Given the description of an element on the screen output the (x, y) to click on. 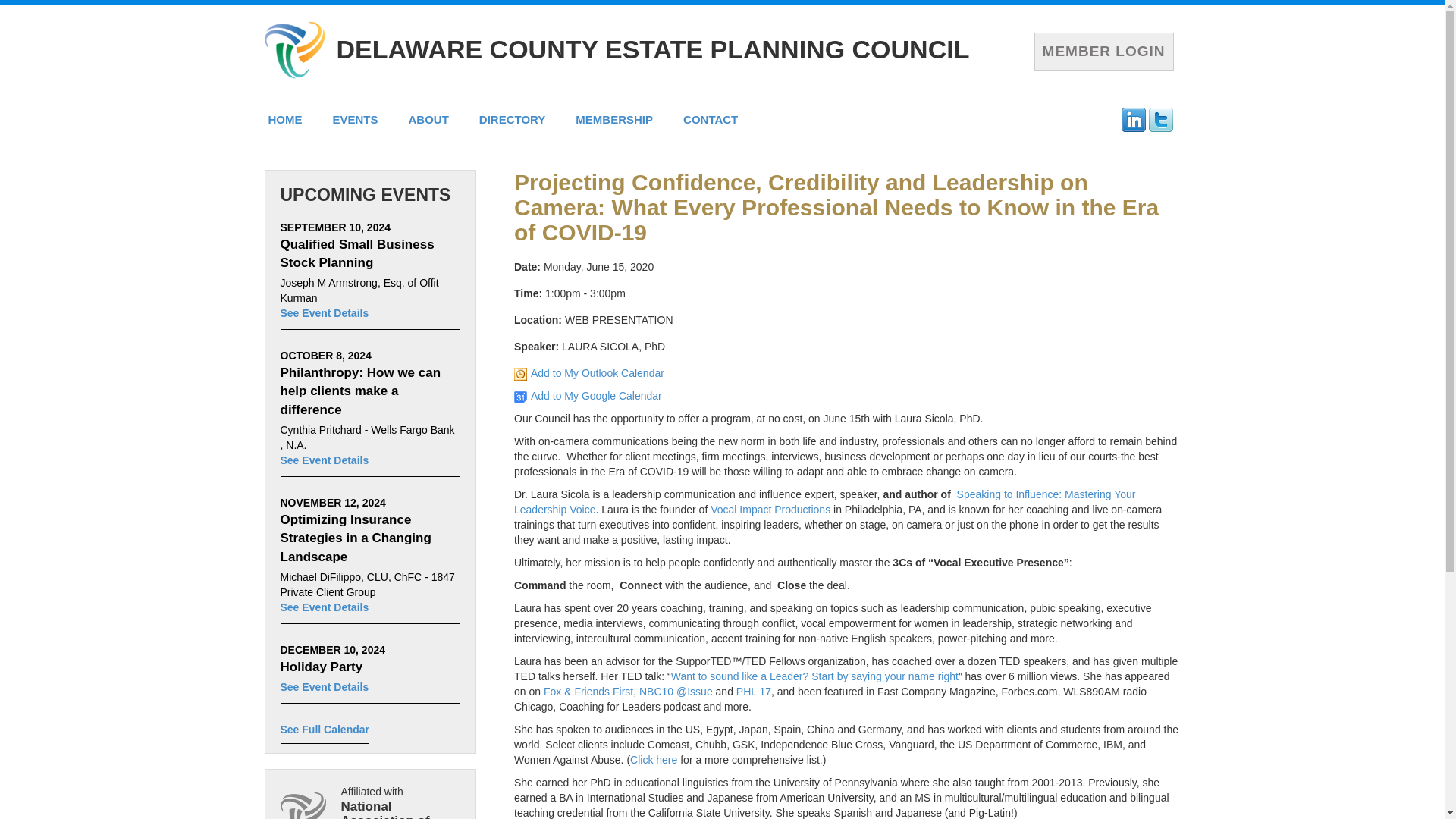
EVENTS (355, 119)
HOME (285, 119)
ABOUT (428, 119)
MEMBER LOGIN (1103, 50)
DELAWARE COUNTY ESTATE PLANNING COUNCIL (652, 49)
